Given the description of an element on the screen output the (x, y) to click on. 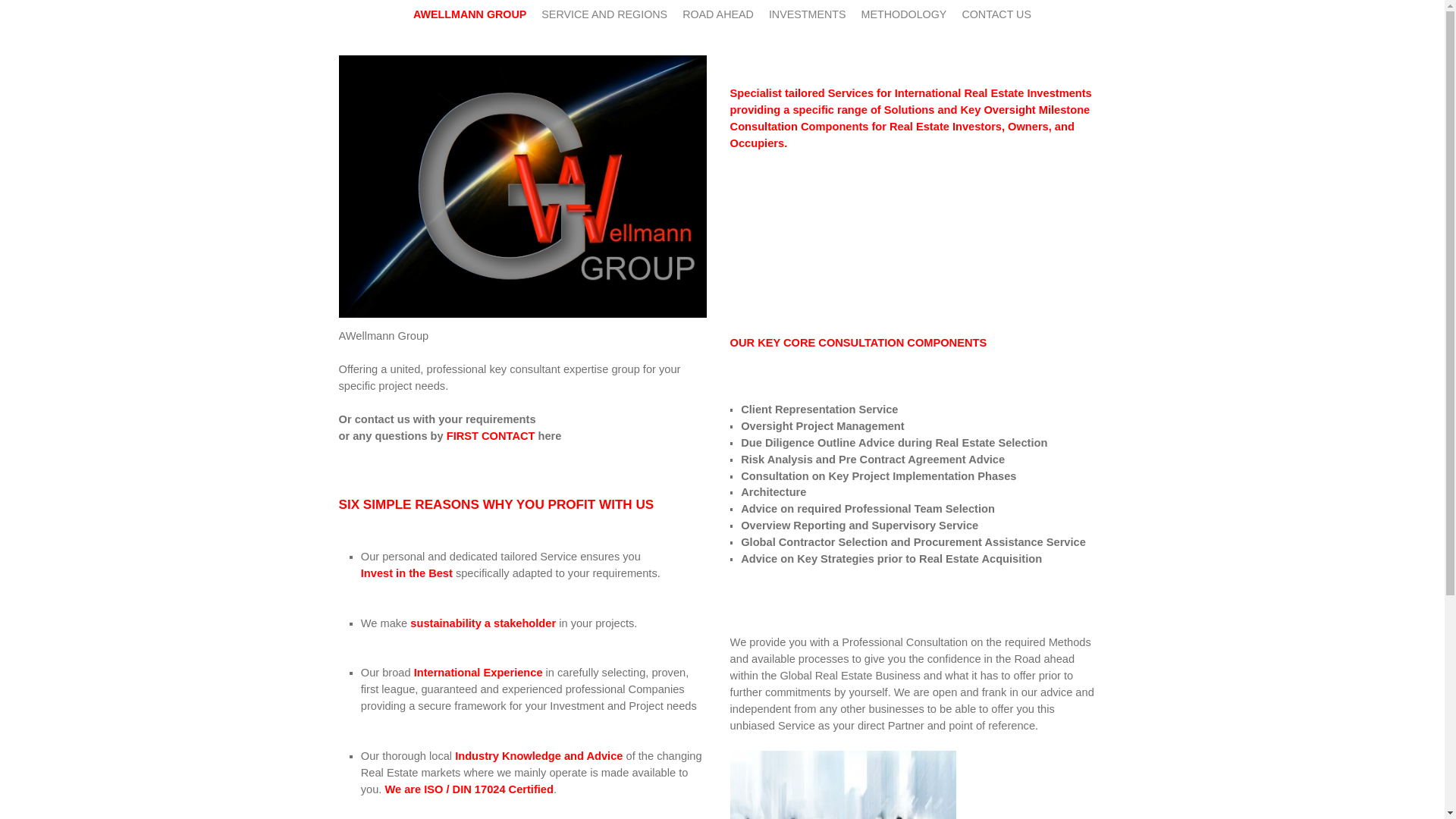
METHODOLOGY (904, 14)
ROAD AHEAD (718, 14)
AWELLMANN GROUP (470, 14)
SERVICE AND REGIONS (604, 14)
Skip to secondary content (352, 6)
CONTACT US (996, 14)
INVESTMENTS (807, 14)
FIRST CONTACT (490, 435)
Skip to primary content (347, 6)
